Given the description of an element on the screen output the (x, y) to click on. 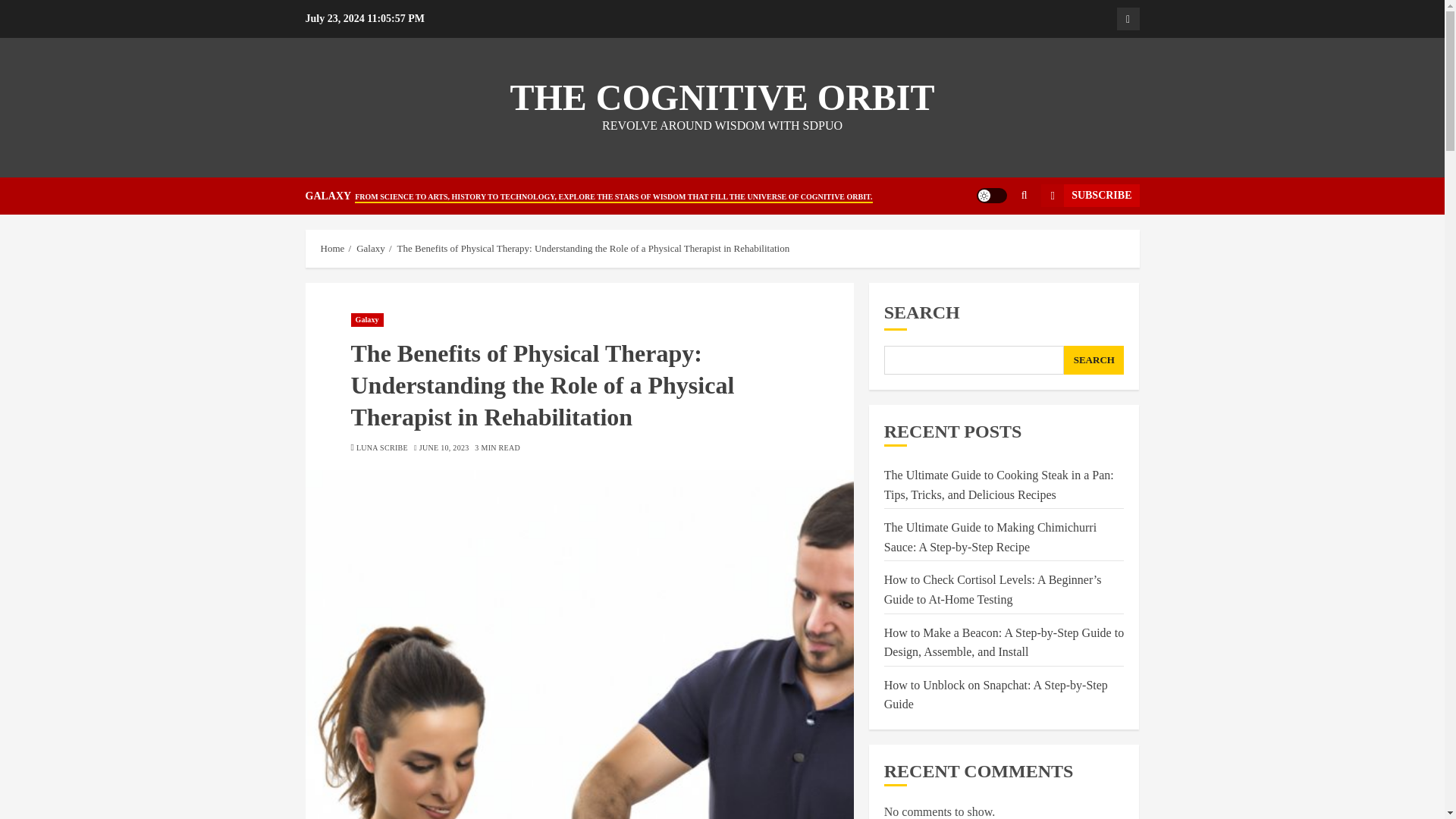
Search (994, 241)
Search (1023, 194)
How to Unblock on Snapchat: A Step-by-Step Guide (995, 694)
Galaxy (370, 248)
SEARCH (1094, 359)
Home (331, 248)
LUNA SCRIBE (381, 448)
THE COGNITIVE ORBIT (721, 96)
SUBSCRIBE (1089, 195)
Galaxy (1127, 18)
Galaxy (366, 319)
JUNE 10, 2023 (443, 448)
